Given the description of an element on the screen output the (x, y) to click on. 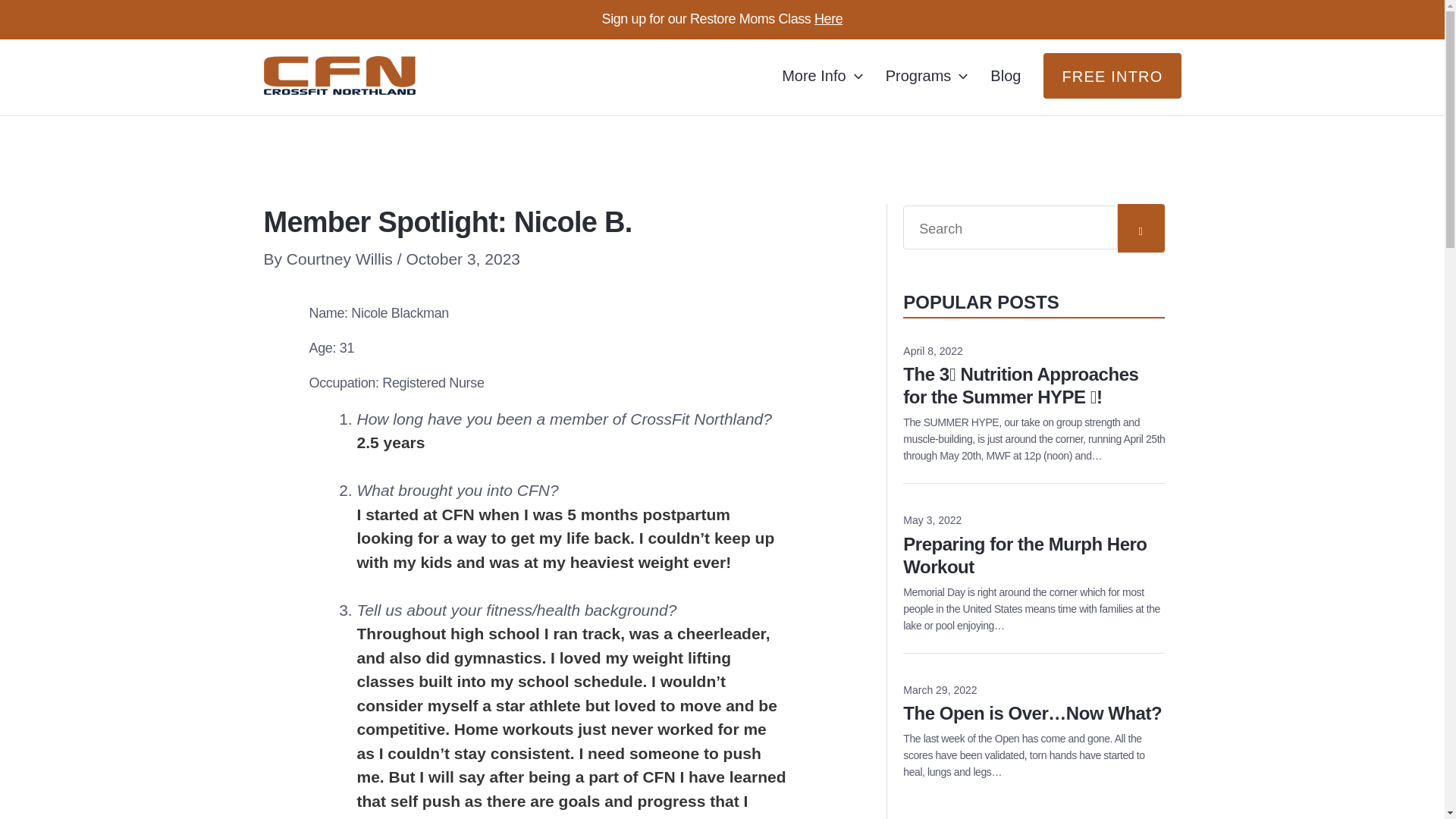
Blog (1005, 75)
Here (1033, 546)
FREE INTRO (828, 18)
More Info (1111, 75)
Programs (821, 75)
View all posts by Courtney Willis (927, 75)
Courtney Willis (341, 258)
